Given the description of an element on the screen output the (x, y) to click on. 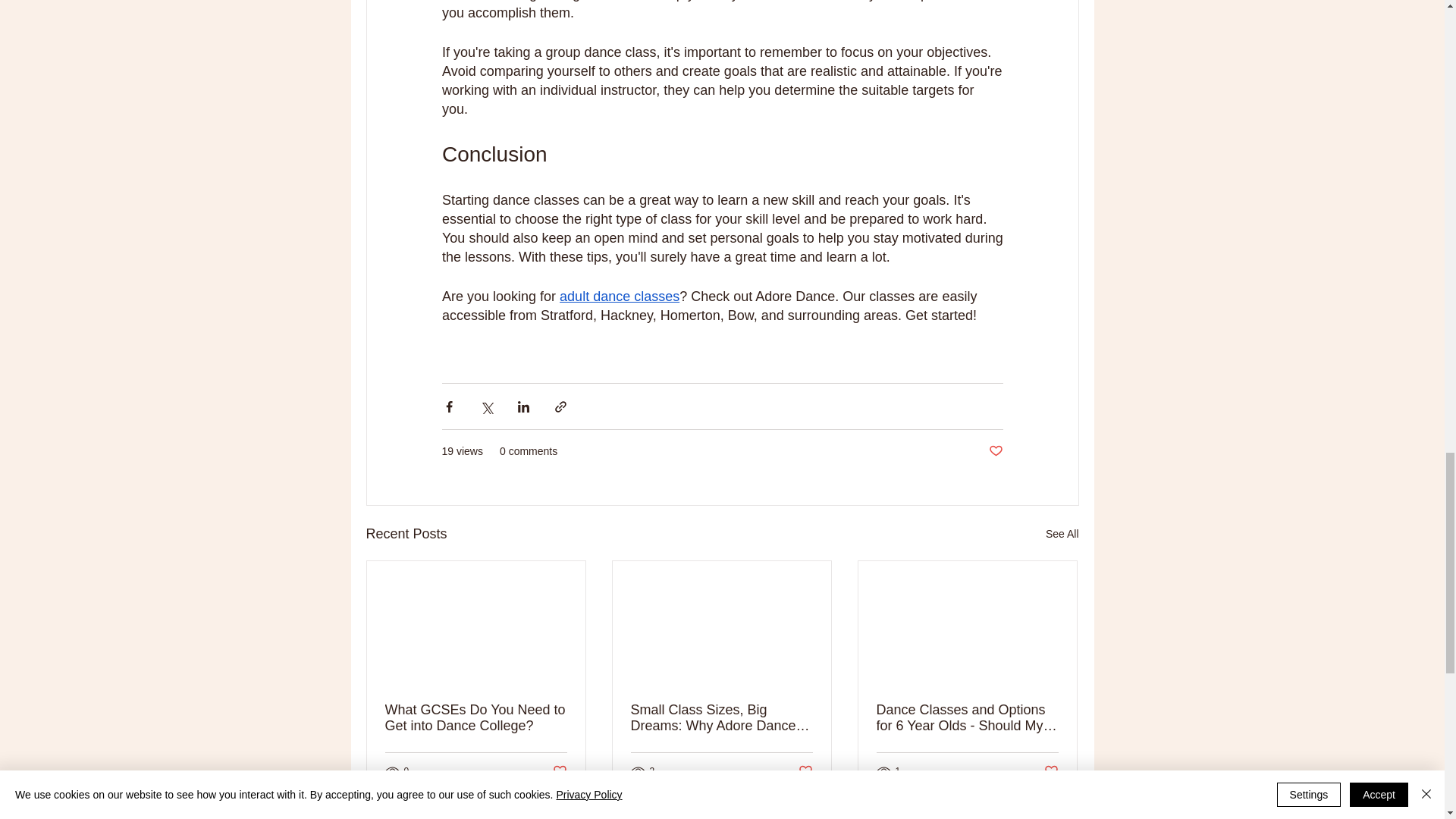
Post not marked as liked (995, 451)
Post not marked as liked (558, 771)
What GCSEs Do You Need to Get into Dance College? (476, 717)
See All (1061, 534)
adult dance classes (619, 296)
Post not marked as liked (1050, 771)
Small Class Sizes, Big Dreams: Why Adore Dance is Different (721, 717)
Post not marked as liked (804, 771)
